Given the description of an element on the screen output the (x, y) to click on. 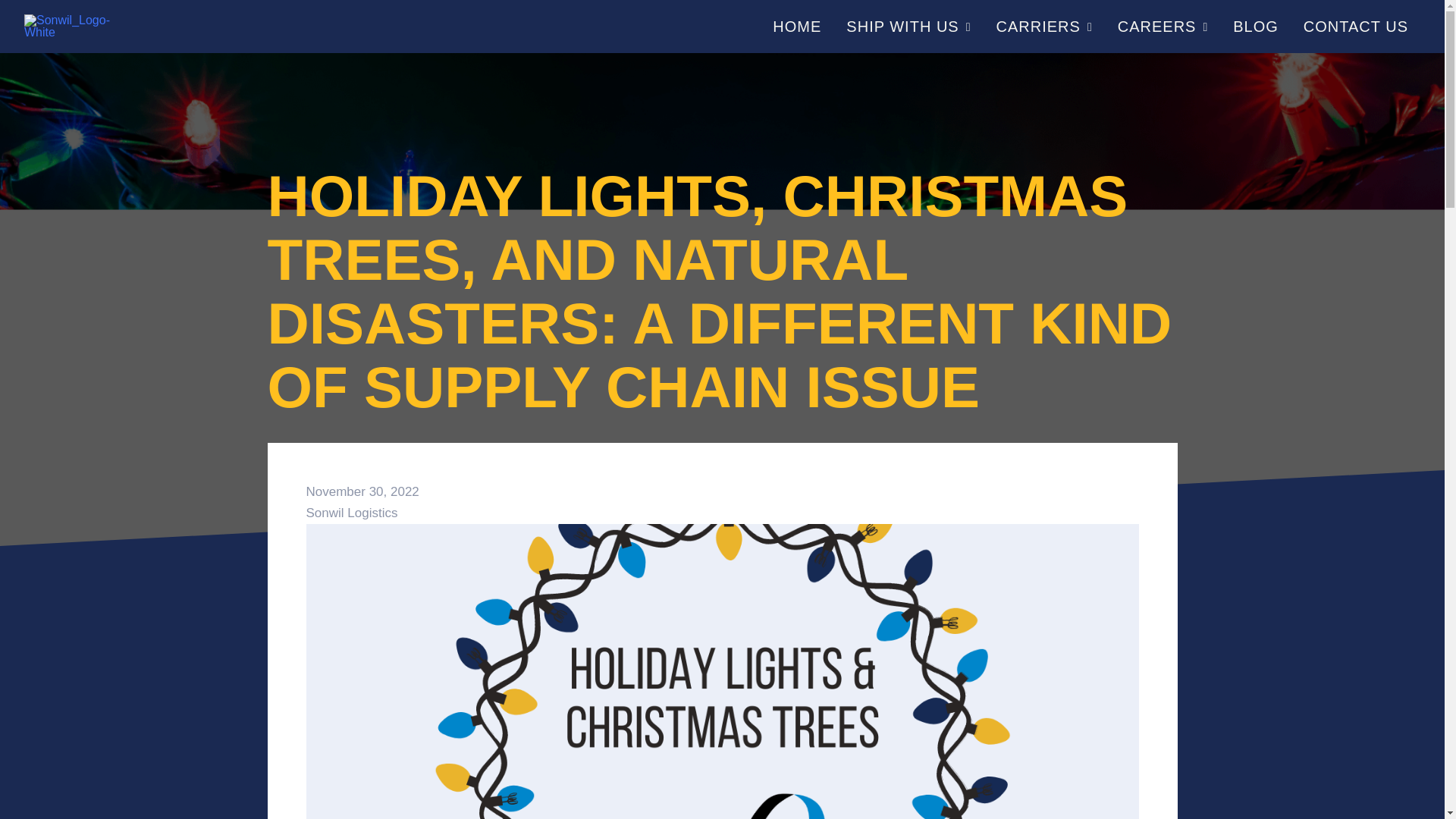
CARRIERS (1044, 25)
BLOG (1255, 25)
SHIP WITH US (907, 25)
CONTACT US (1355, 25)
HOME (796, 25)
CAREERS (1163, 25)
